Given the description of an element on the screen output the (x, y) to click on. 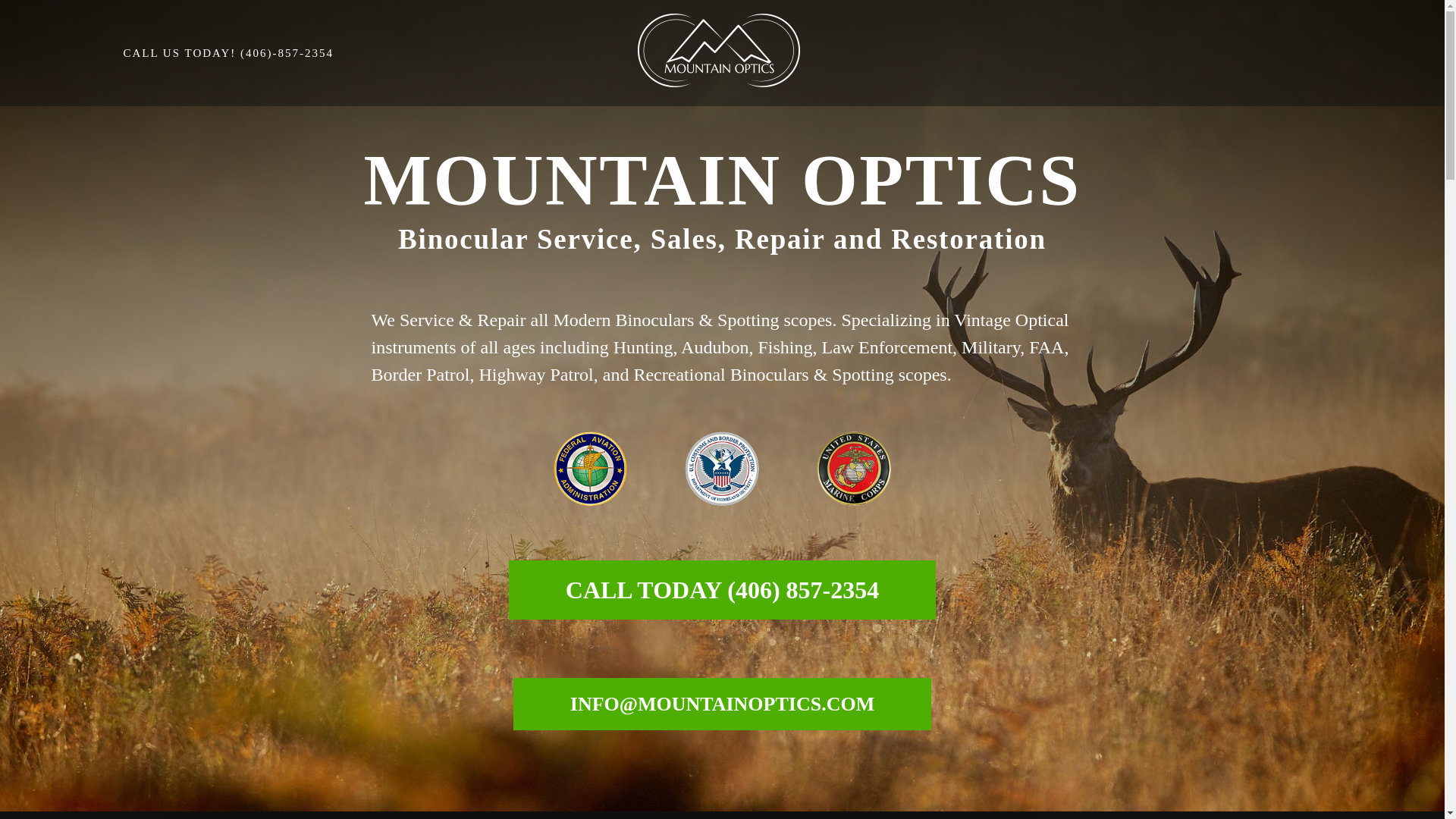
Mountain Optics (740, 101)
MOUNTAIN OPTICS (740, 101)
Mountain Optics (718, 50)
